Given the description of an element on the screen output the (x, y) to click on. 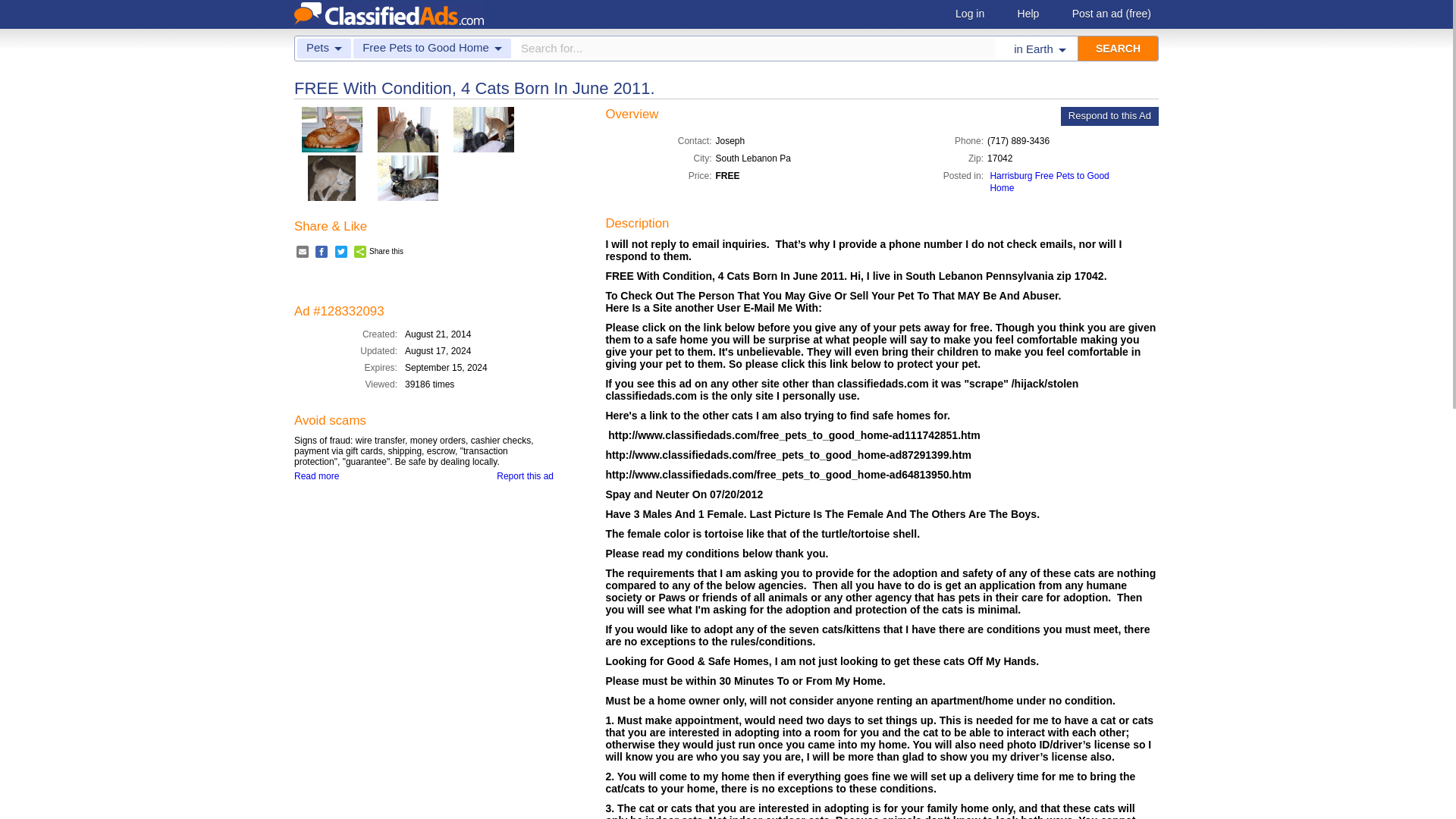
Harrisburg Free Pets to Good Home (1049, 181)
Help (1028, 14)
Read more (316, 475)
Respond to this Ad (1109, 116)
SEARCH (1117, 48)
Log in (969, 14)
Report this ad (524, 475)
SEARCH (1117, 48)
